Given the description of an element on the screen output the (x, y) to click on. 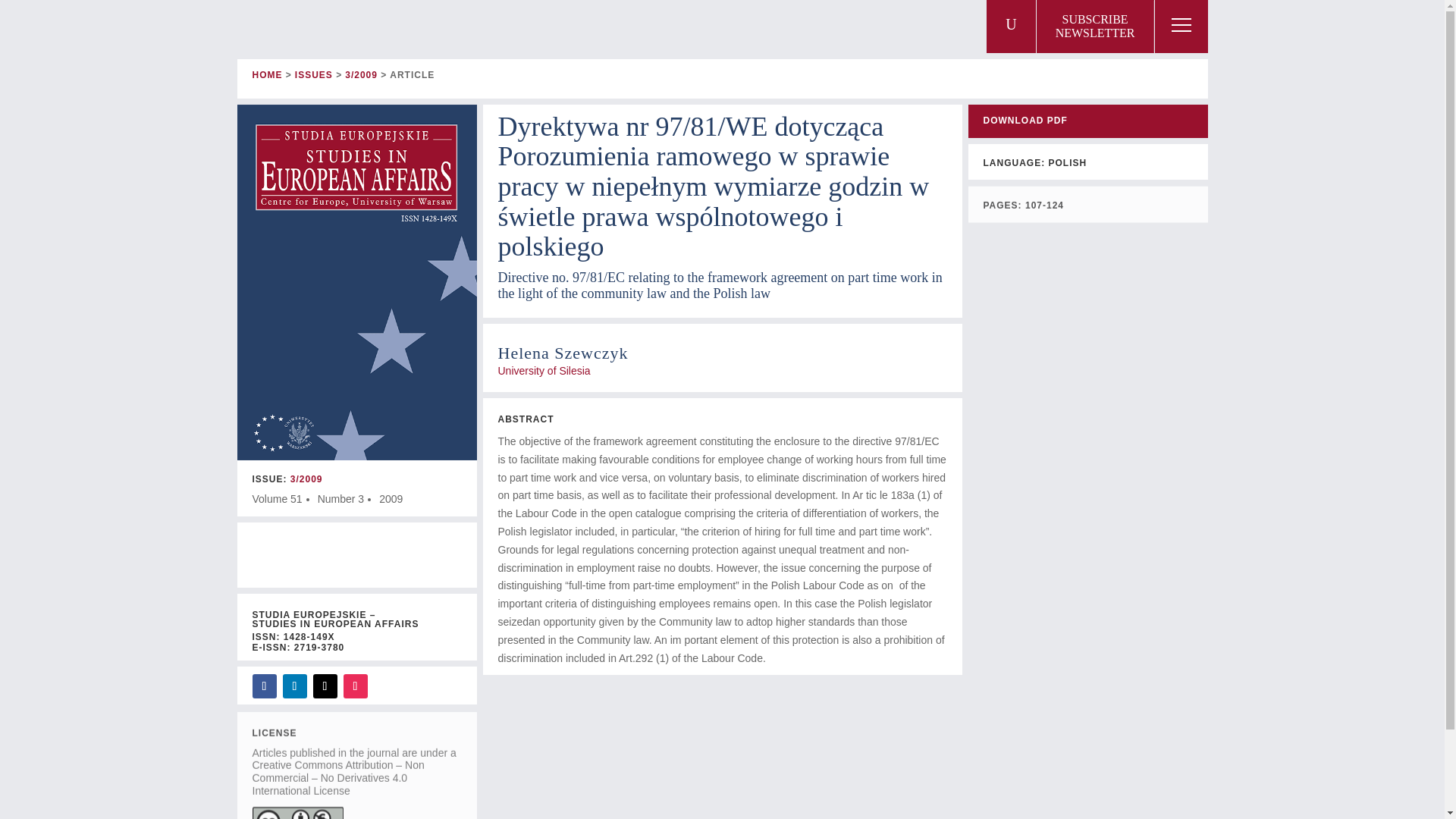
HOME (266, 74)
ISSUES (1095, 26)
